Given the description of an element on the screen output the (x, y) to click on. 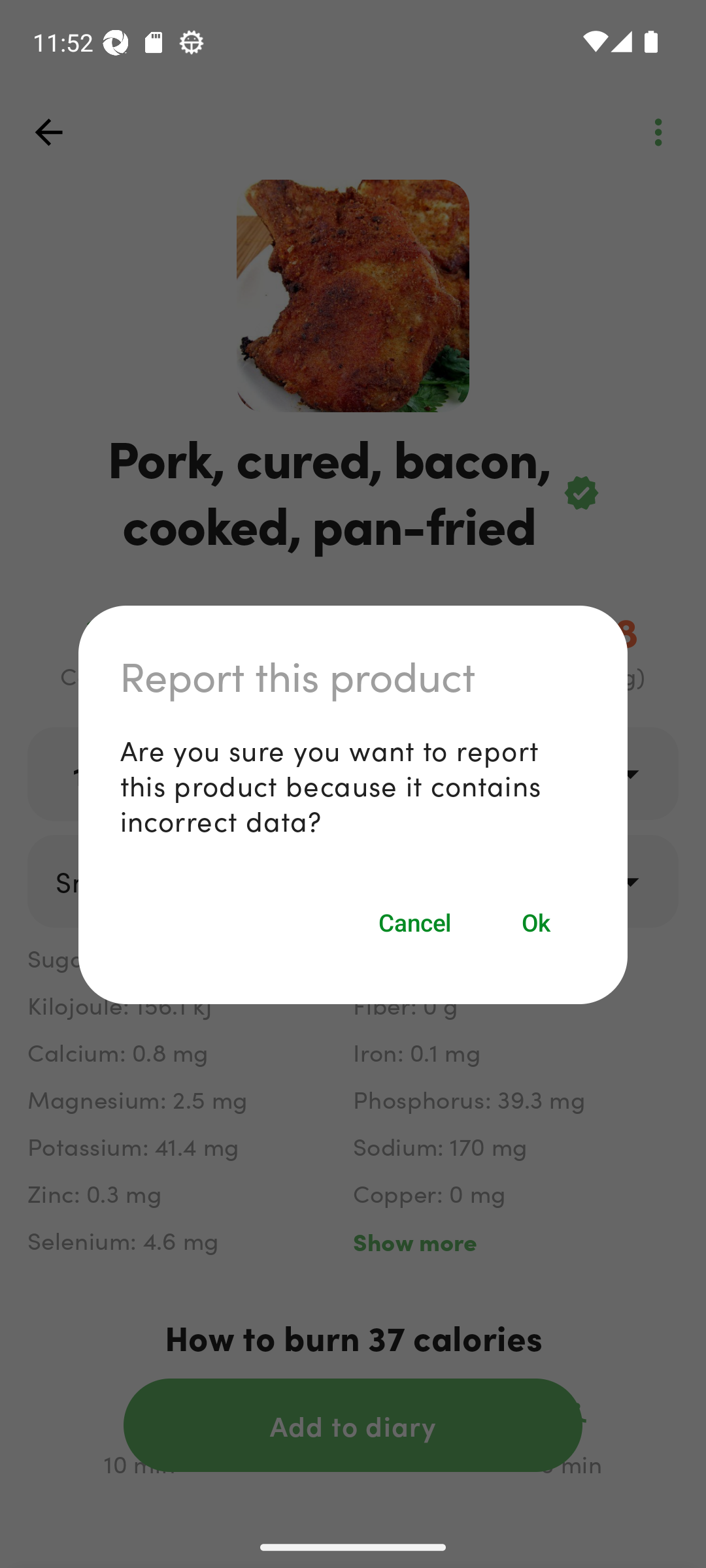
Cancel (415, 922)
Ok (536, 922)
